Given the description of an element on the screen output the (x, y) to click on. 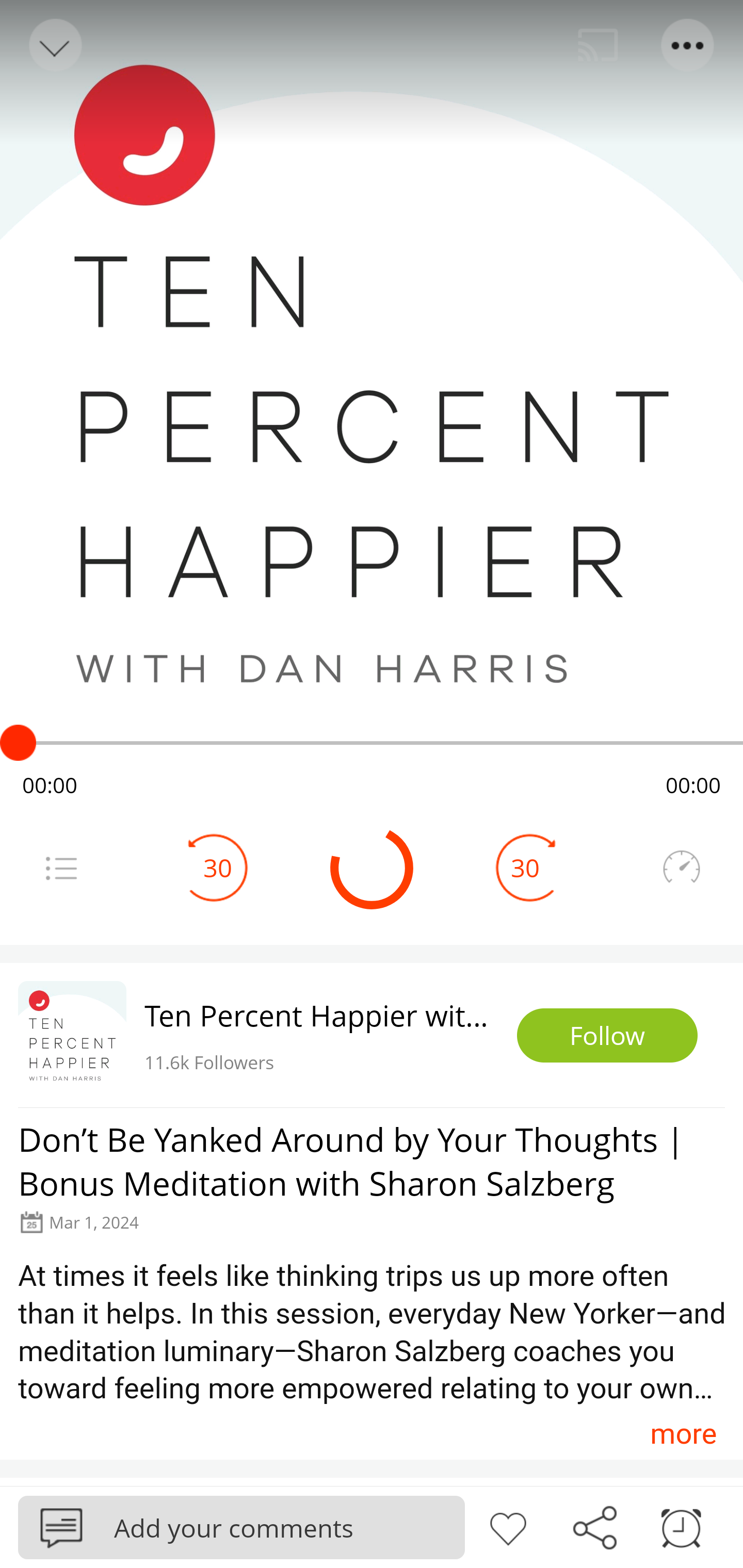
Back (53, 45)
Cast. Disconnected (597, 45)
Menu (688, 45)
30 Seek Backward (217, 867)
30 Seek Forward (525, 867)
Menu (60, 867)
Speedometer (681, 867)
Follow (607, 1035)
more (682, 1432)
Like (508, 1526)
Share (594, 1526)
Sleep timer (681, 1526)
Podbean Add your comments (241, 1526)
